Given the description of an element on the screen output the (x, y) to click on. 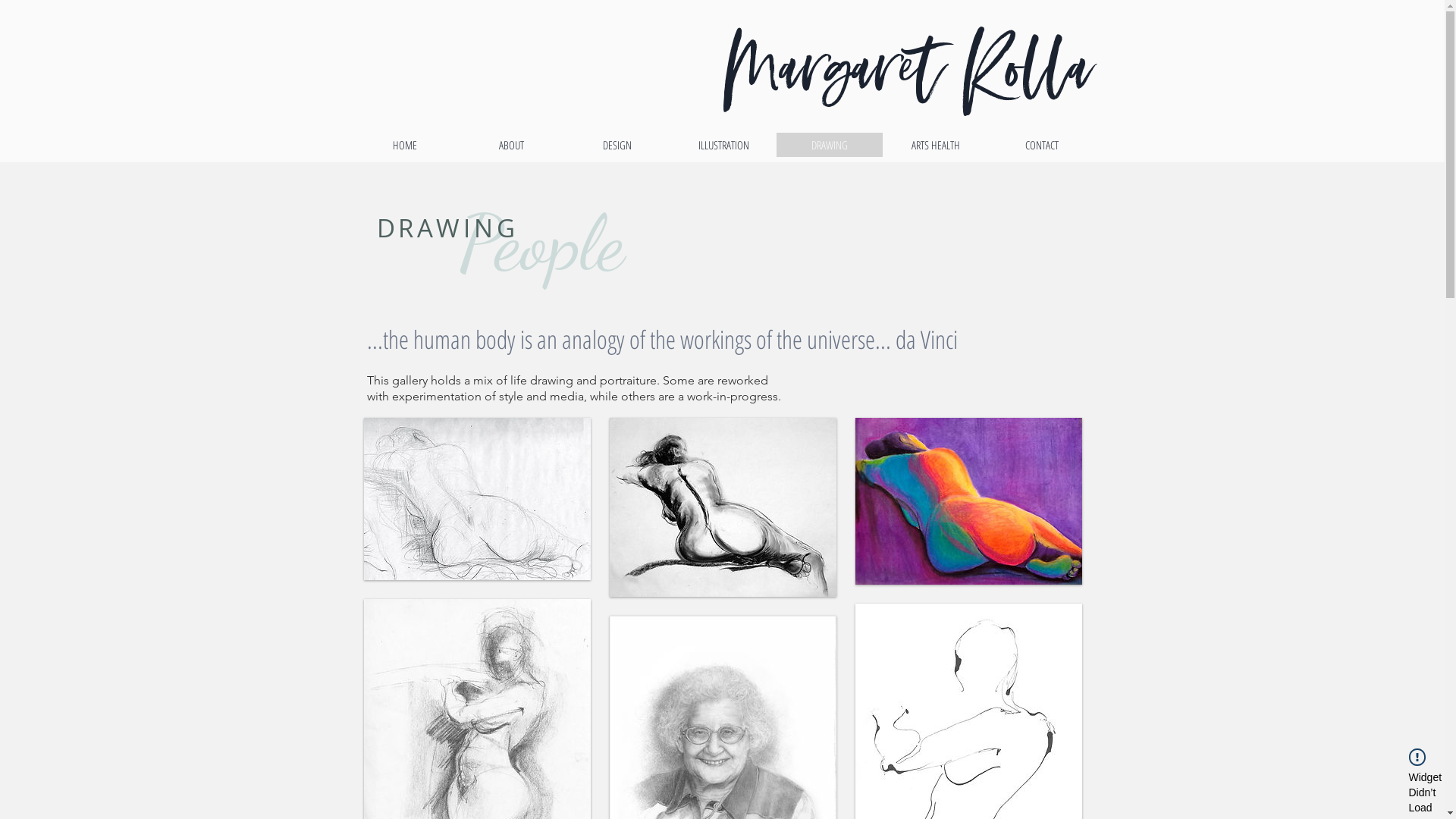
ARTS HEALTH Element type: text (935, 144)
DESIGN Element type: text (617, 144)
CONTACT Element type: text (1041, 144)
ILLUSTRATION Element type: text (723, 144)
HOME Element type: text (404, 144)
DRAWING Element type: text (829, 144)
ABOUT Element type: text (511, 144)
